Given the description of an element on the screen output the (x, y) to click on. 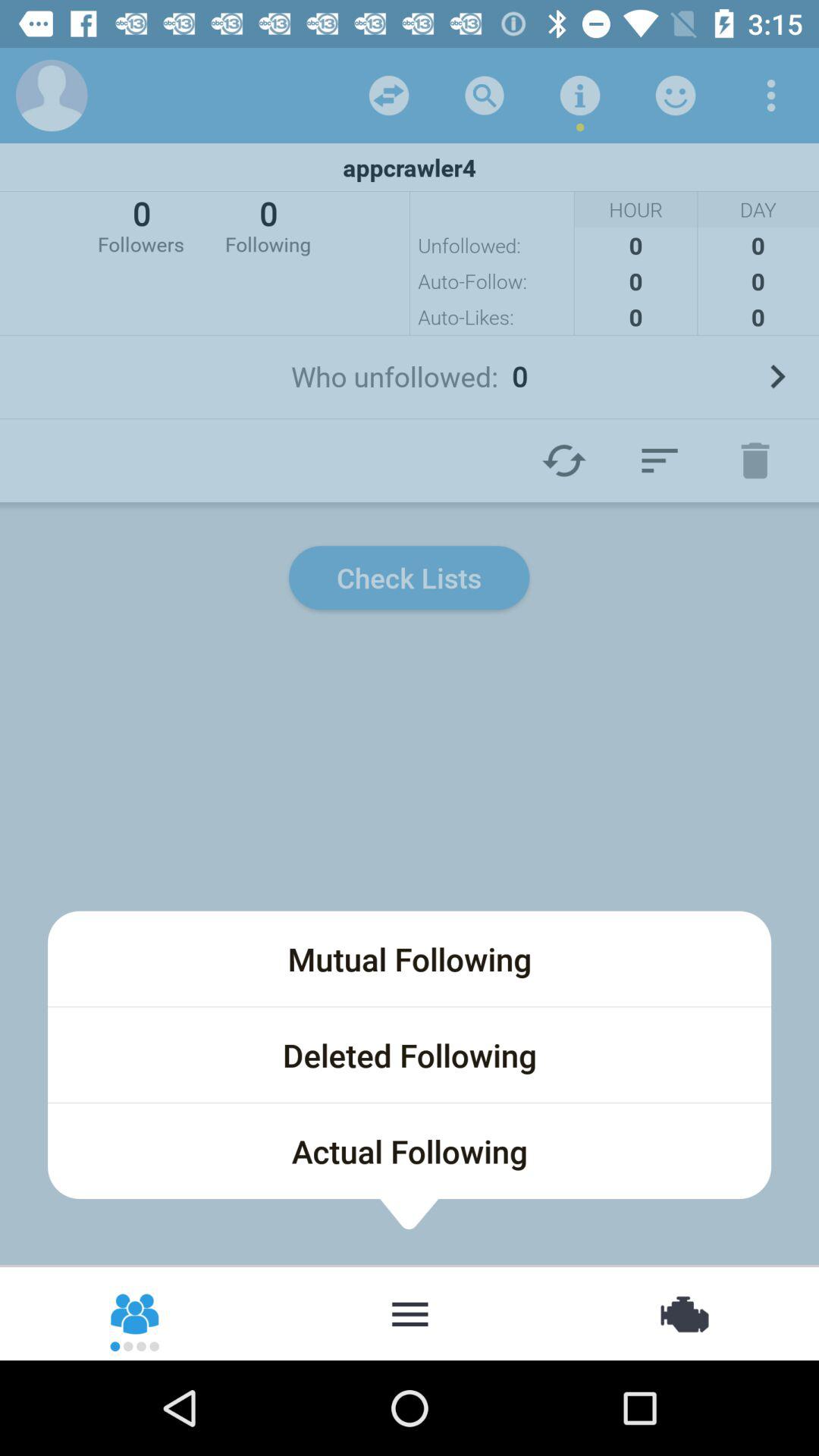
turn on the deleted following item (409, 1054)
